Given the description of an element on the screen output the (x, y) to click on. 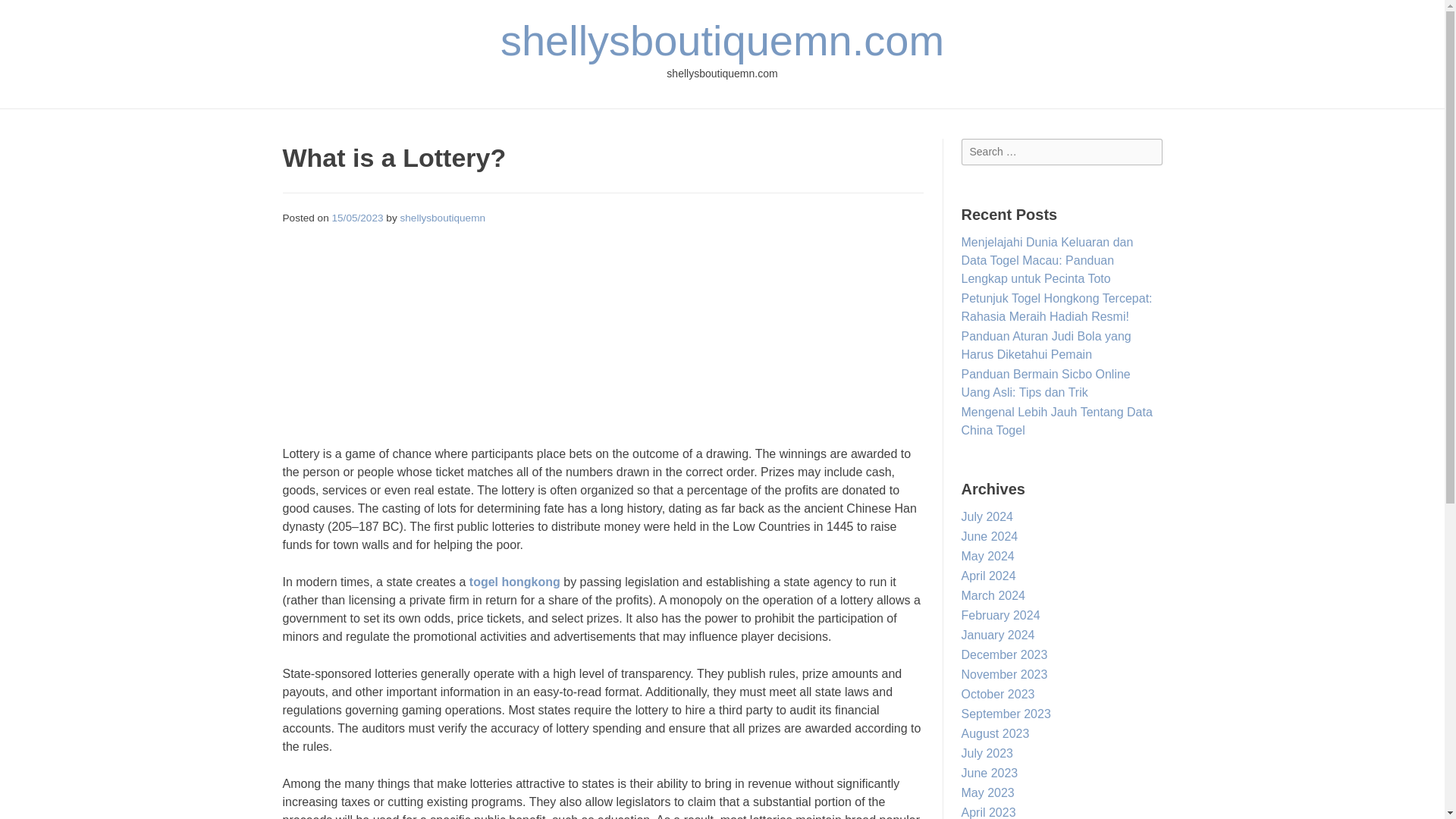
July 2024 (986, 516)
Panduan Bermain Sicbo Online Uang Asli: Tips dan Trik (1045, 382)
Panduan Aturan Judi Bola yang Harus Diketahui Pemain (1045, 345)
Mengenal Lebih Jauh Tentang Data China Togel (1056, 420)
shellysboutiquemn (441, 217)
togel hongkong (514, 581)
March 2024 (993, 594)
February 2024 (1000, 615)
January 2024 (997, 634)
shellysboutiquemn.com (721, 40)
June 2024 (988, 535)
May 2024 (987, 555)
Search (27, 13)
